Given the description of an element on the screen output the (x, y) to click on. 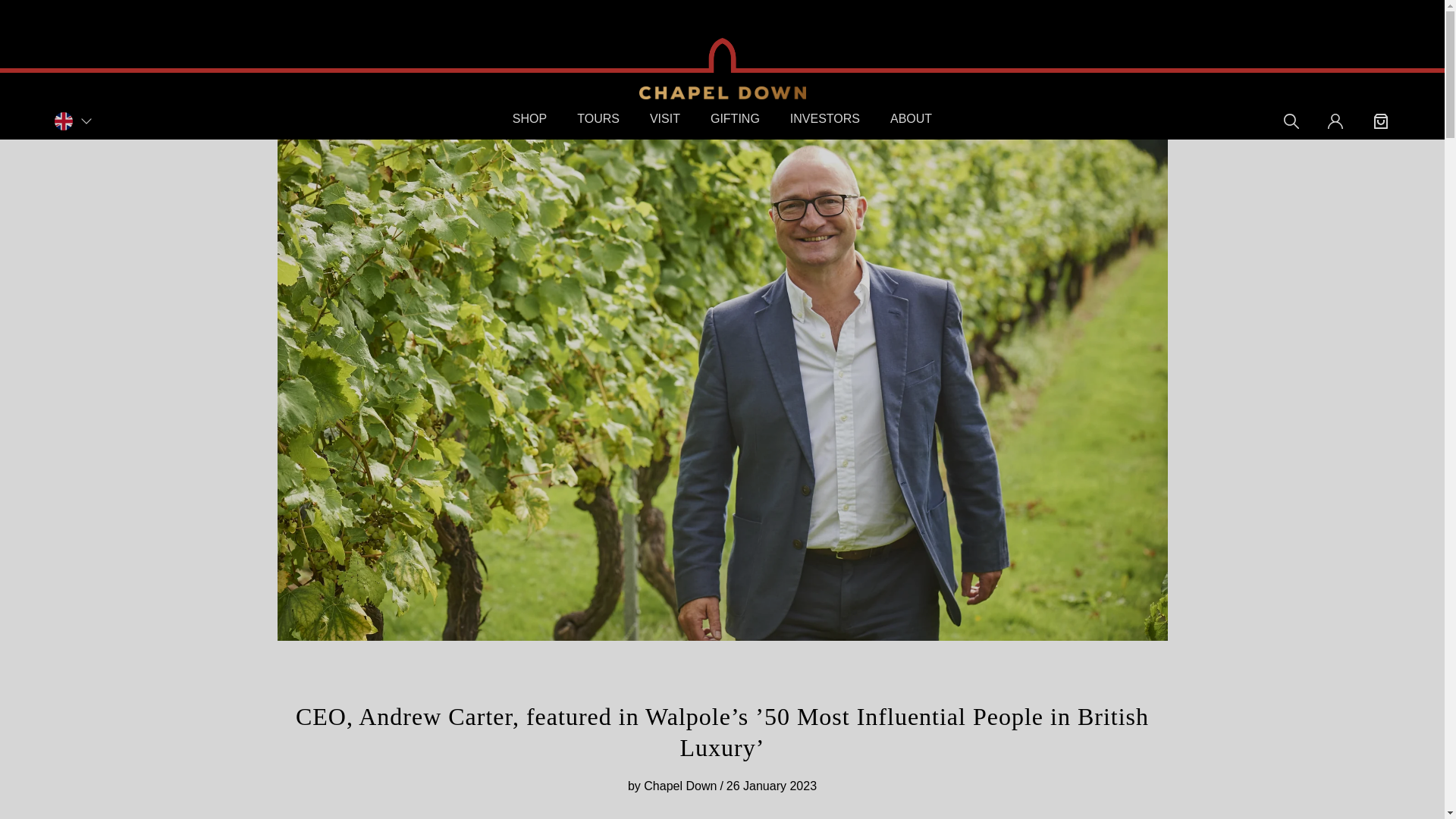
SPIRITS (607, 141)
SHOP (529, 119)
FEATURED (145, 141)
GIFTS (837, 141)
WINES (376, 141)
